Given the description of an element on the screen output the (x, y) to click on. 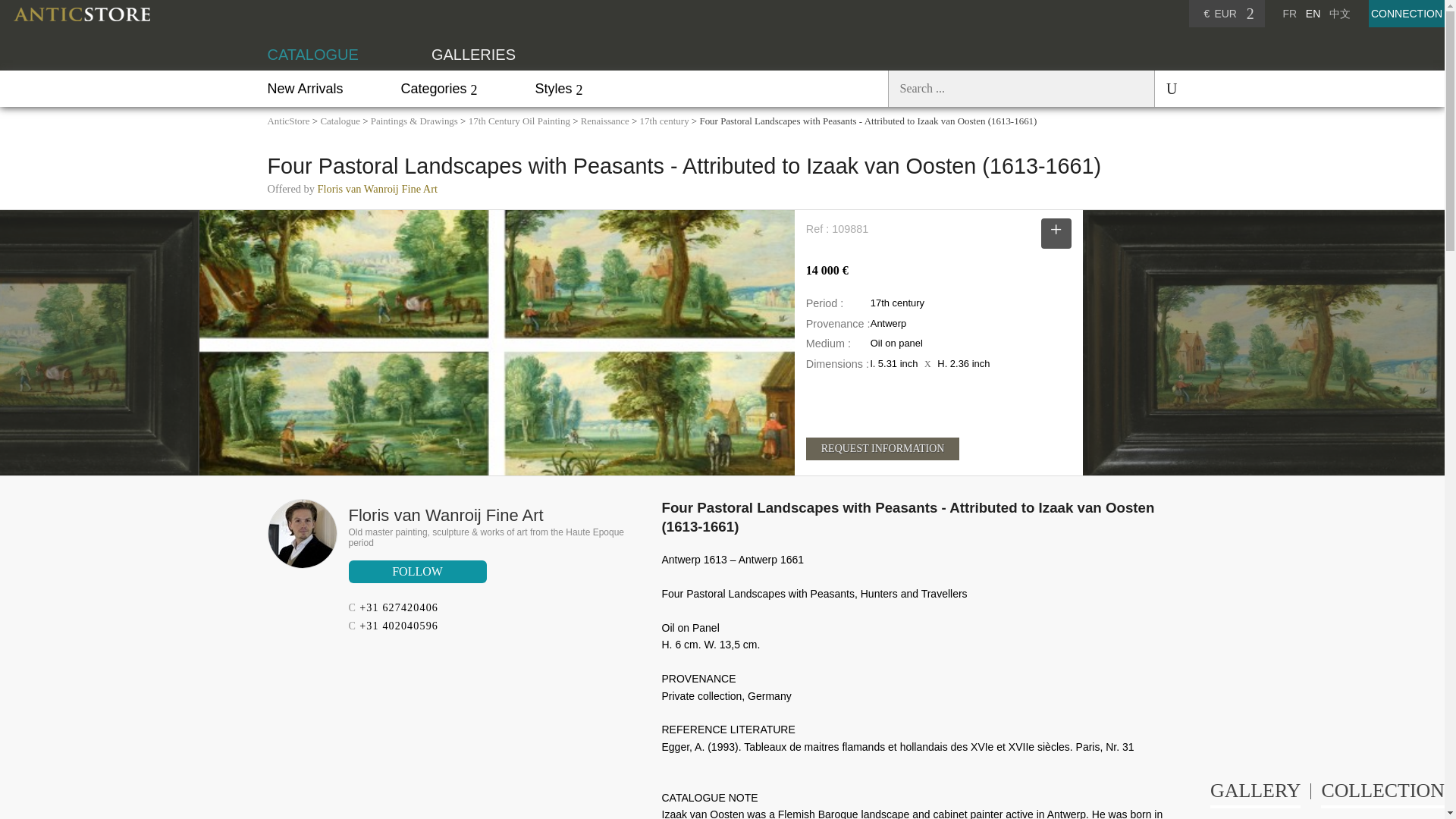
New Arrivals (304, 88)
CATALOGUE (312, 54)
GALLERIES (472, 54)
FR (1289, 13)
